Given the description of an element on the screen output the (x, y) to click on. 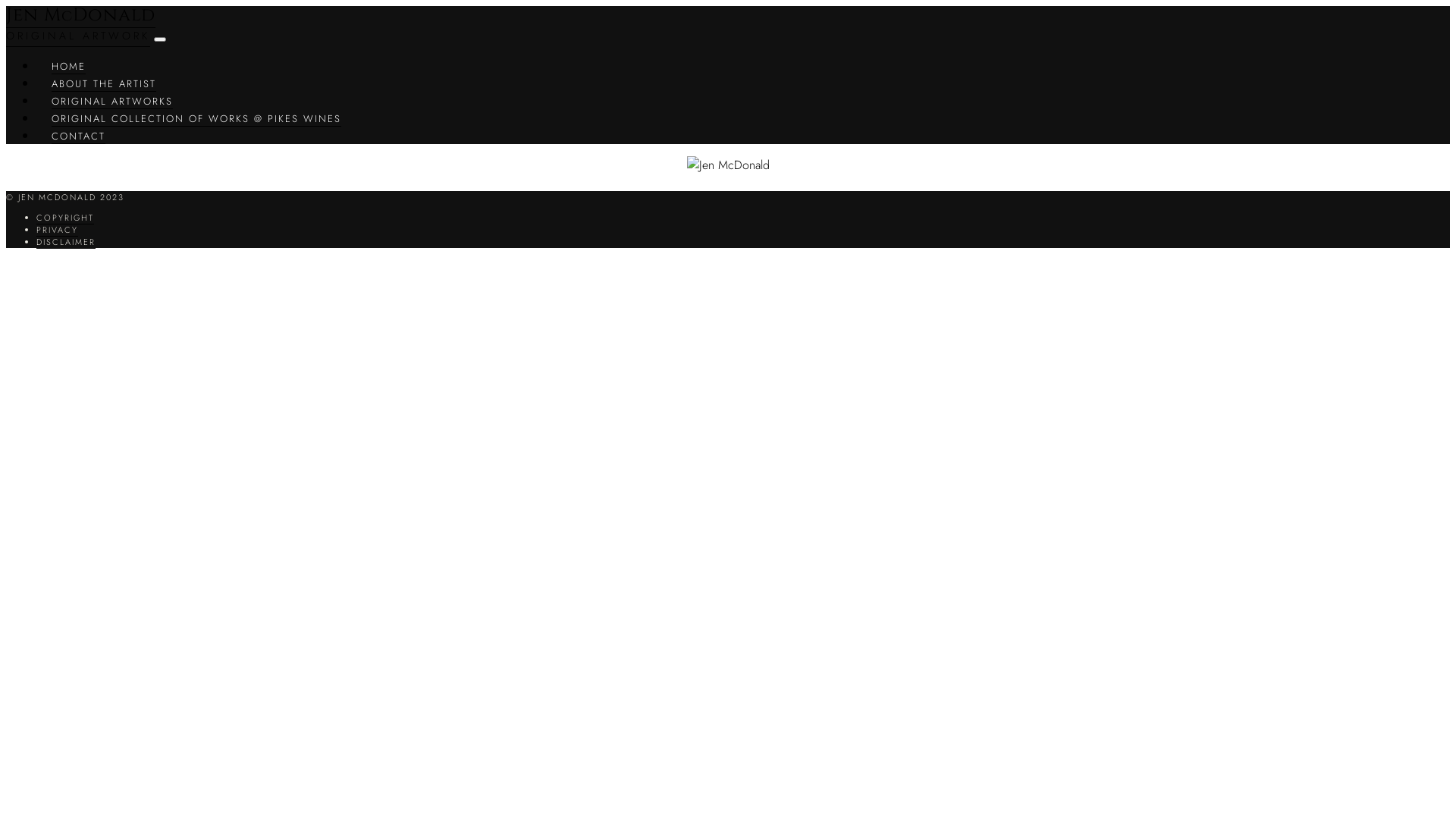
ORIGINAL ARTWORKS Element type: text (111, 101)
COPYRIGHT Element type: text (65, 217)
HOME Element type: text (68, 66)
Jen McDonald
ORIGINAL ARTWORK Element type: text (80, 25)
DISCLAIMER Element type: text (65, 241)
CONTACT Element type: text (78, 136)
ABOUT THE ARTIST Element type: text (103, 83)
ORIGINAL COLLECTION OF WORKS @ PIKES WINES Element type: text (196, 118)
PRIVACY Element type: text (57, 229)
